Given the description of an element on the screen output the (x, y) to click on. 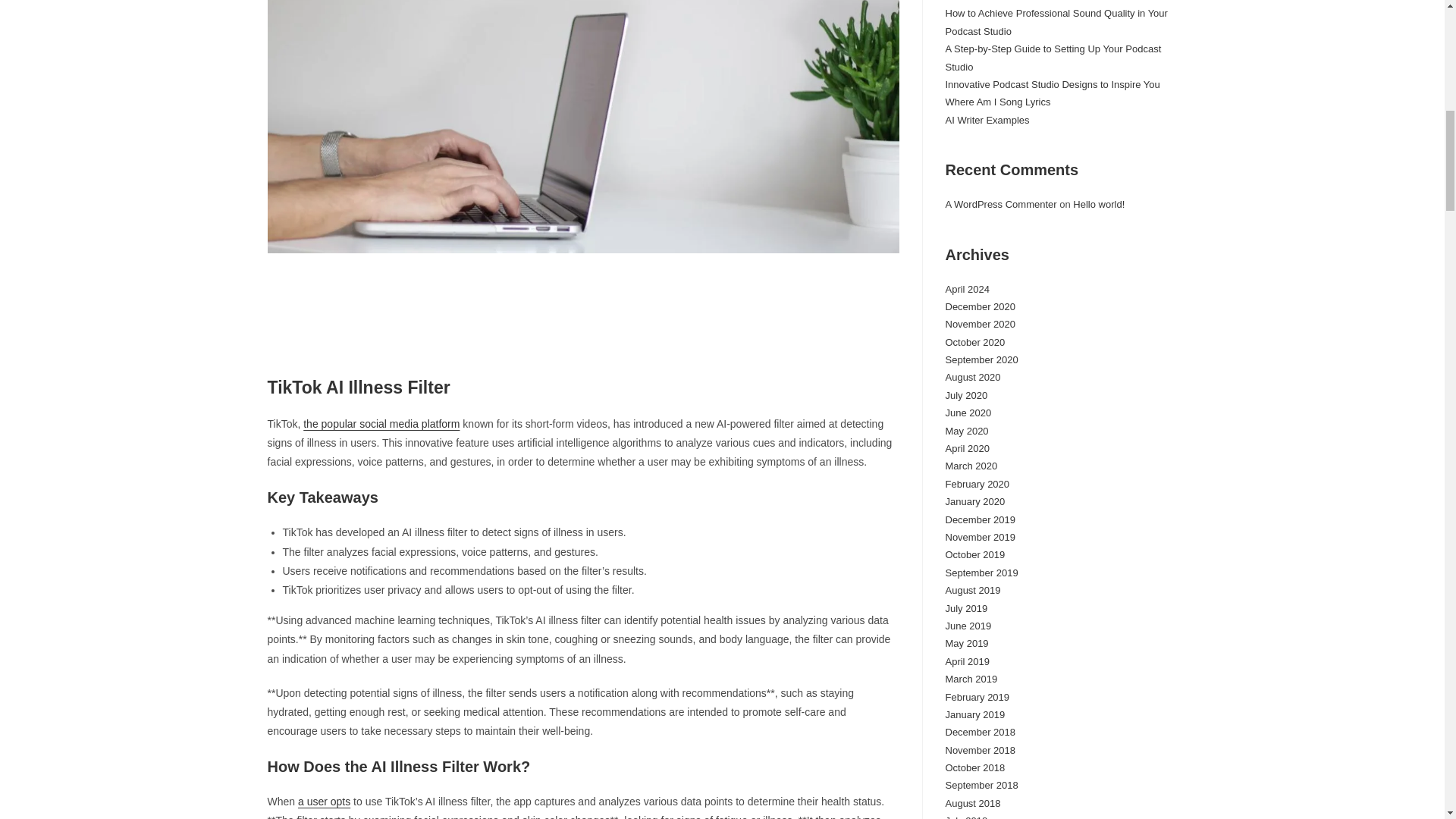
the popular social media platform (381, 423)
a user opts (324, 801)
